Given the description of an element on the screen output the (x, y) to click on. 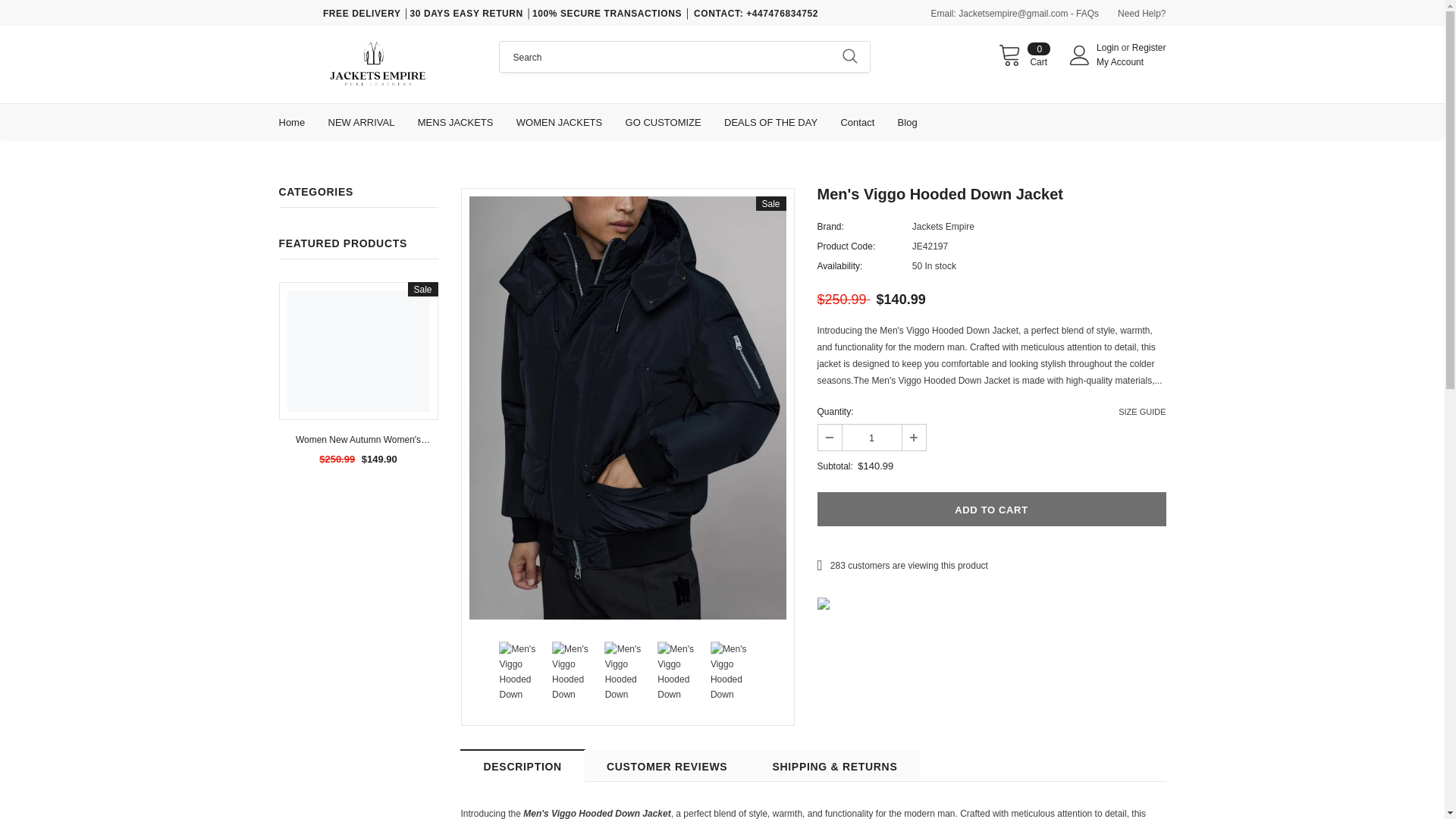
1 (871, 437)
NEW ARRIVAL (361, 121)
Logo (377, 63)
My Account (1119, 61)
GO CUSTOMIZE (663, 121)
Register (1149, 47)
Women New Autumn Women's Baseball Bomber Leather Jacket (358, 439)
Add to cart (991, 509)
DEALS OF THE DAY (769, 121)
Contact (857, 121)
